Given the description of an element on the screen output the (x, y) to click on. 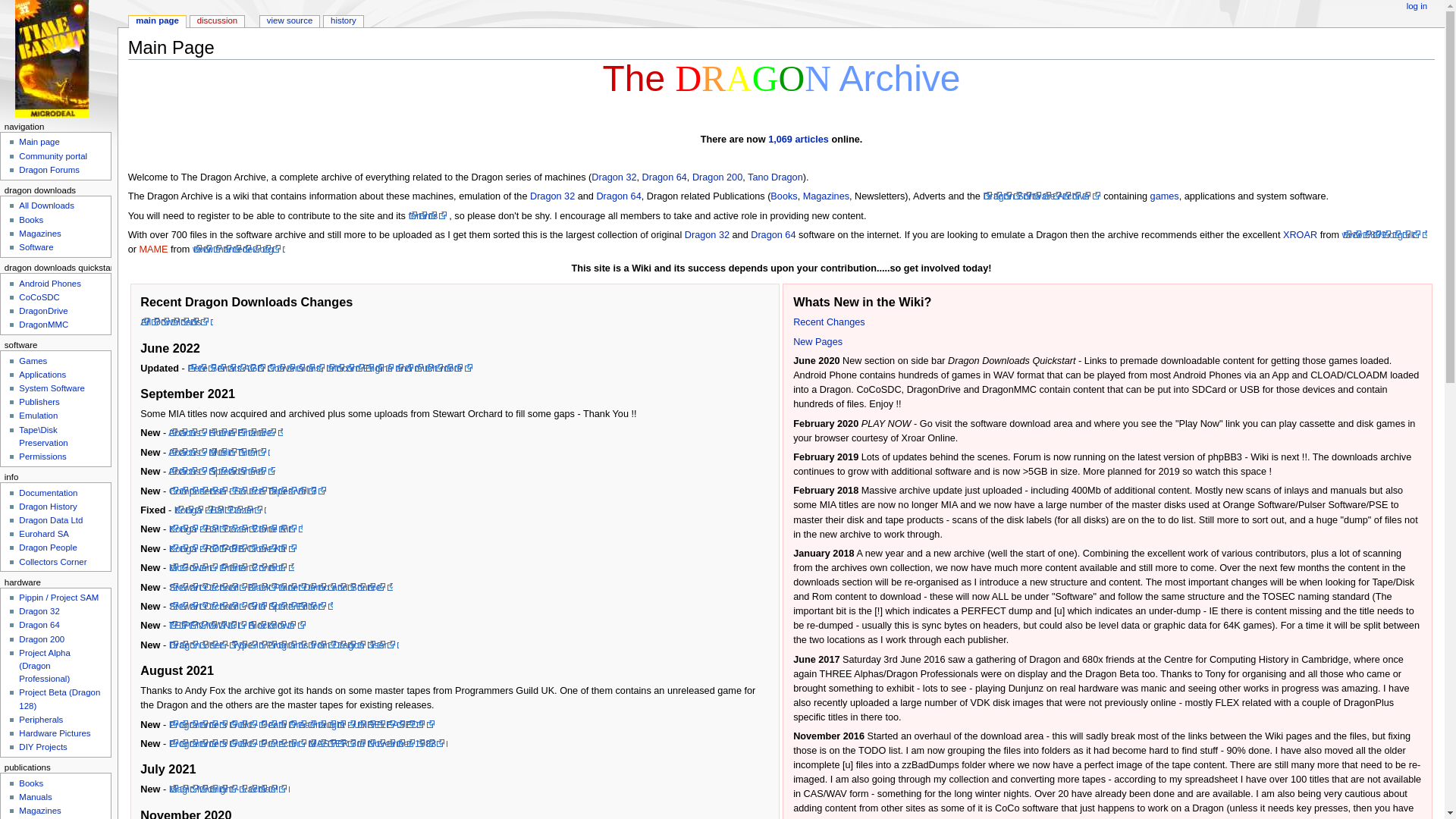
games (1164, 195)
XROAR (1299, 235)
Abacus - Home Finance (225, 432)
Kouga - Ball Dozer (220, 510)
Magazines (825, 195)
Stewart Orchard - Black Planet Demo and Source (280, 587)
Special:NewPages (818, 341)
Dragon 32 (613, 176)
Dragon 32 (613, 176)
Games (1164, 195)
Dragon 200 (717, 176)
forums (427, 215)
Dragon 64 (664, 176)
Dragon 64 (617, 195)
XROAR (1299, 235)
